Given the description of an element on the screen output the (x, y) to click on. 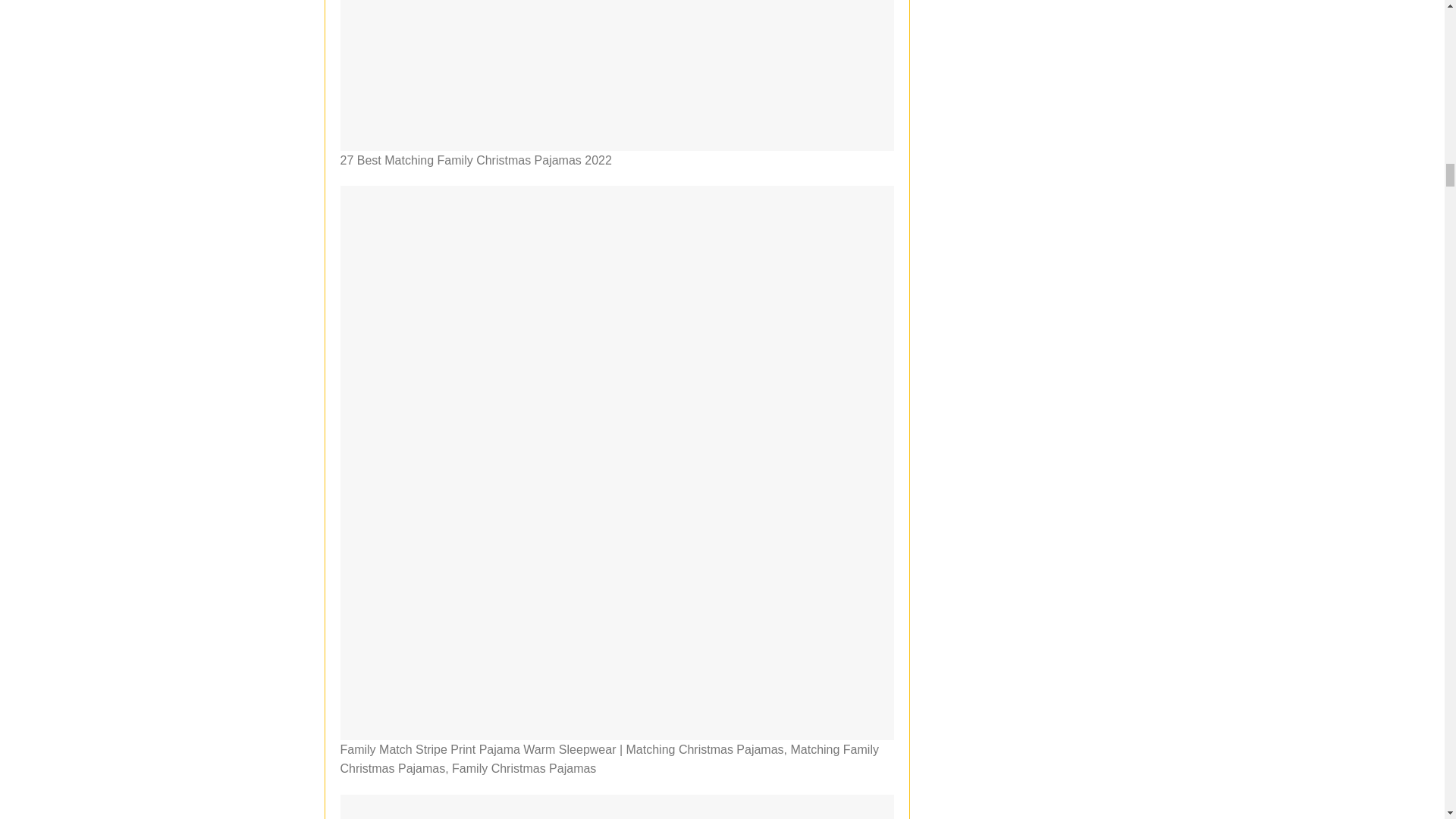
27 Best Matching Family Christmas Pajamas 2022 (616, 75)
